Given the description of an element on the screen output the (x, y) to click on. 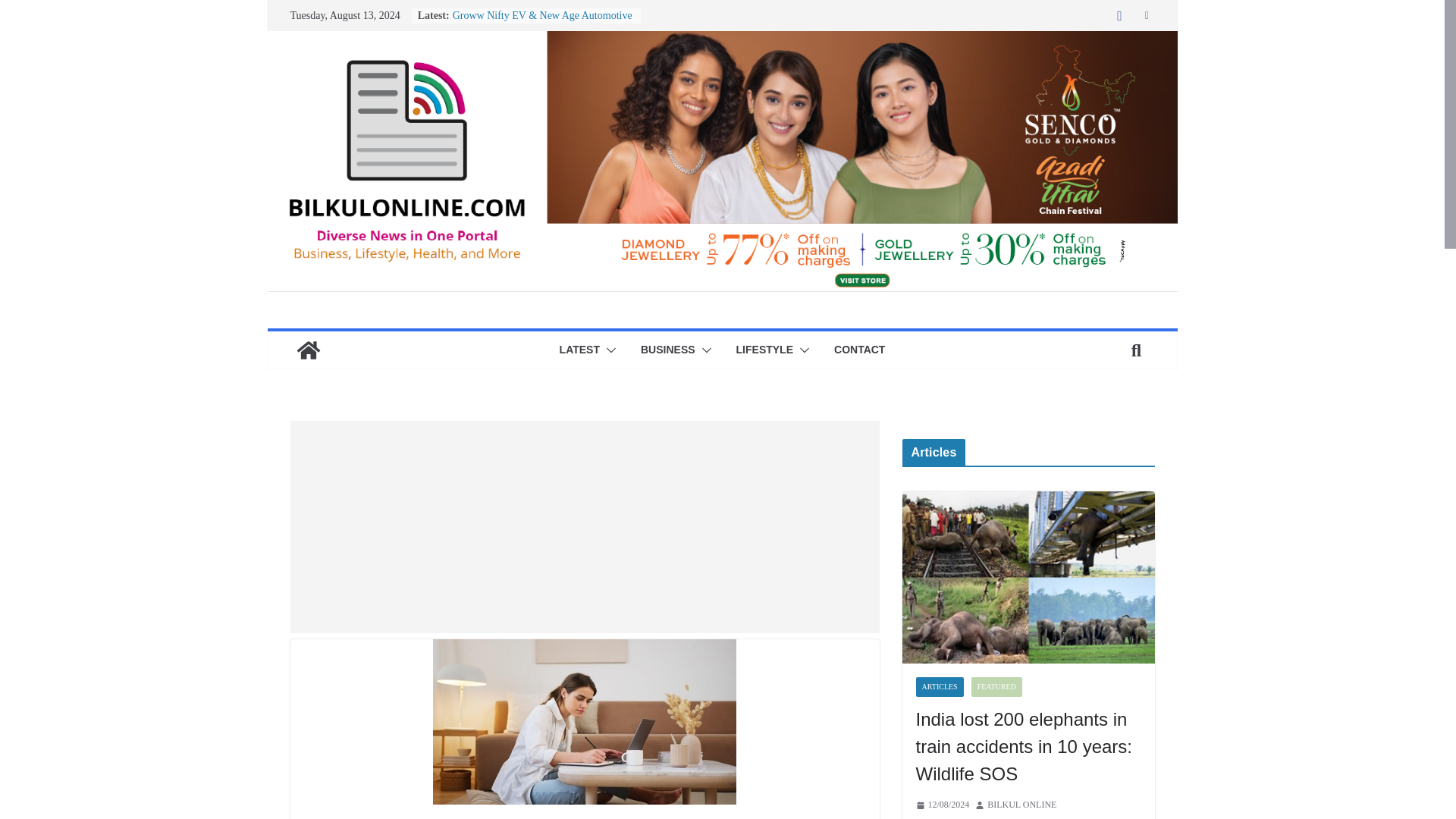
CONTACT (859, 350)
Bilkul Online (721, 41)
Advertisement (584, 526)
LATEST (579, 350)
LIFESTYLE (764, 350)
BUSINESS (667, 350)
Bilkul Online (307, 350)
